Given the description of an element on the screen output the (x, y) to click on. 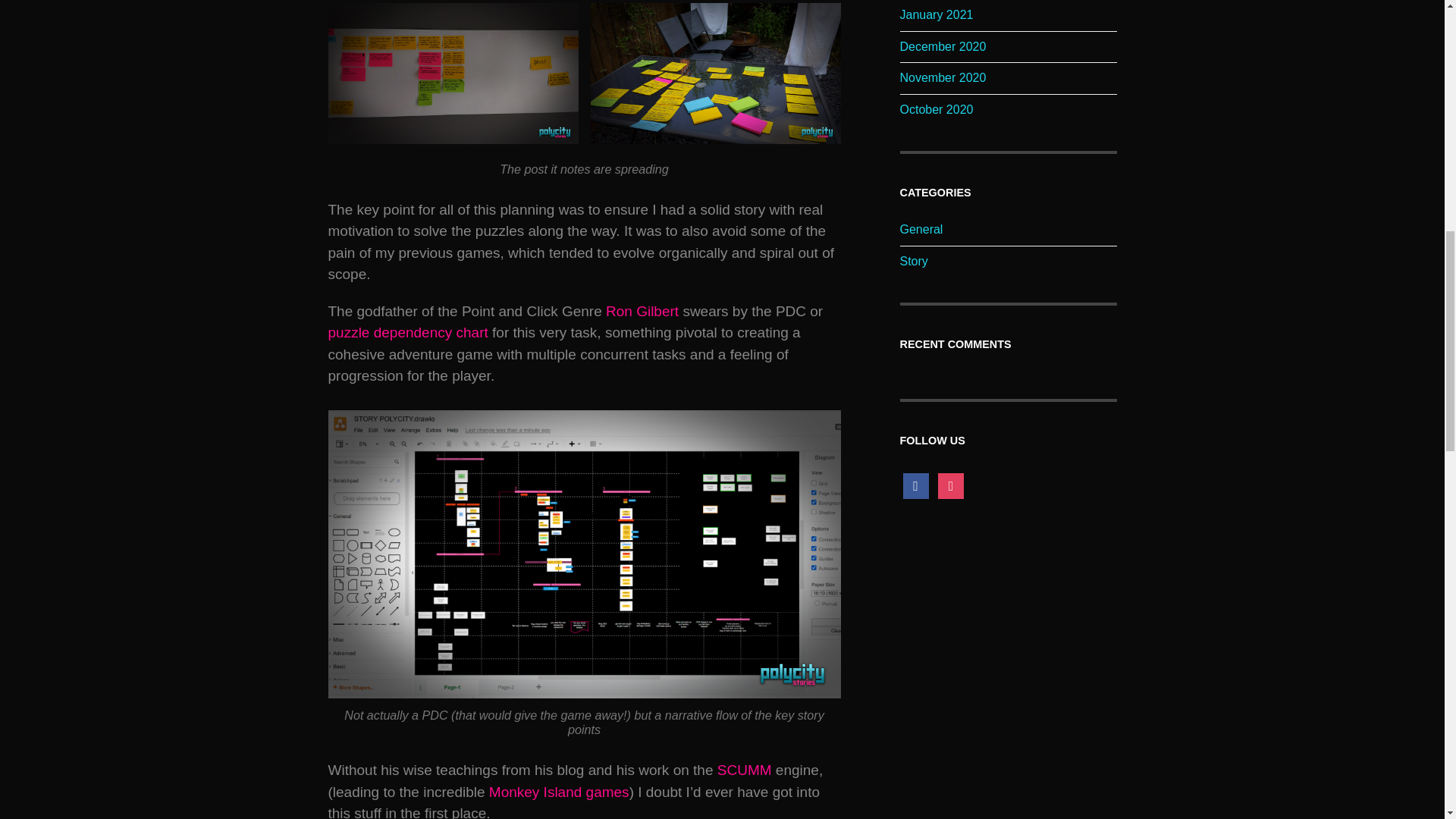
Story (913, 260)
SCUMM (744, 770)
Monkey Island games (556, 791)
instagram (950, 484)
January 2021 (935, 14)
Ron Gilbert (641, 311)
October 2020 (935, 109)
facebook (915, 484)
puzzle dependency chart (407, 332)
November 2020 (942, 77)
